Given the description of an element on the screen output the (x, y) to click on. 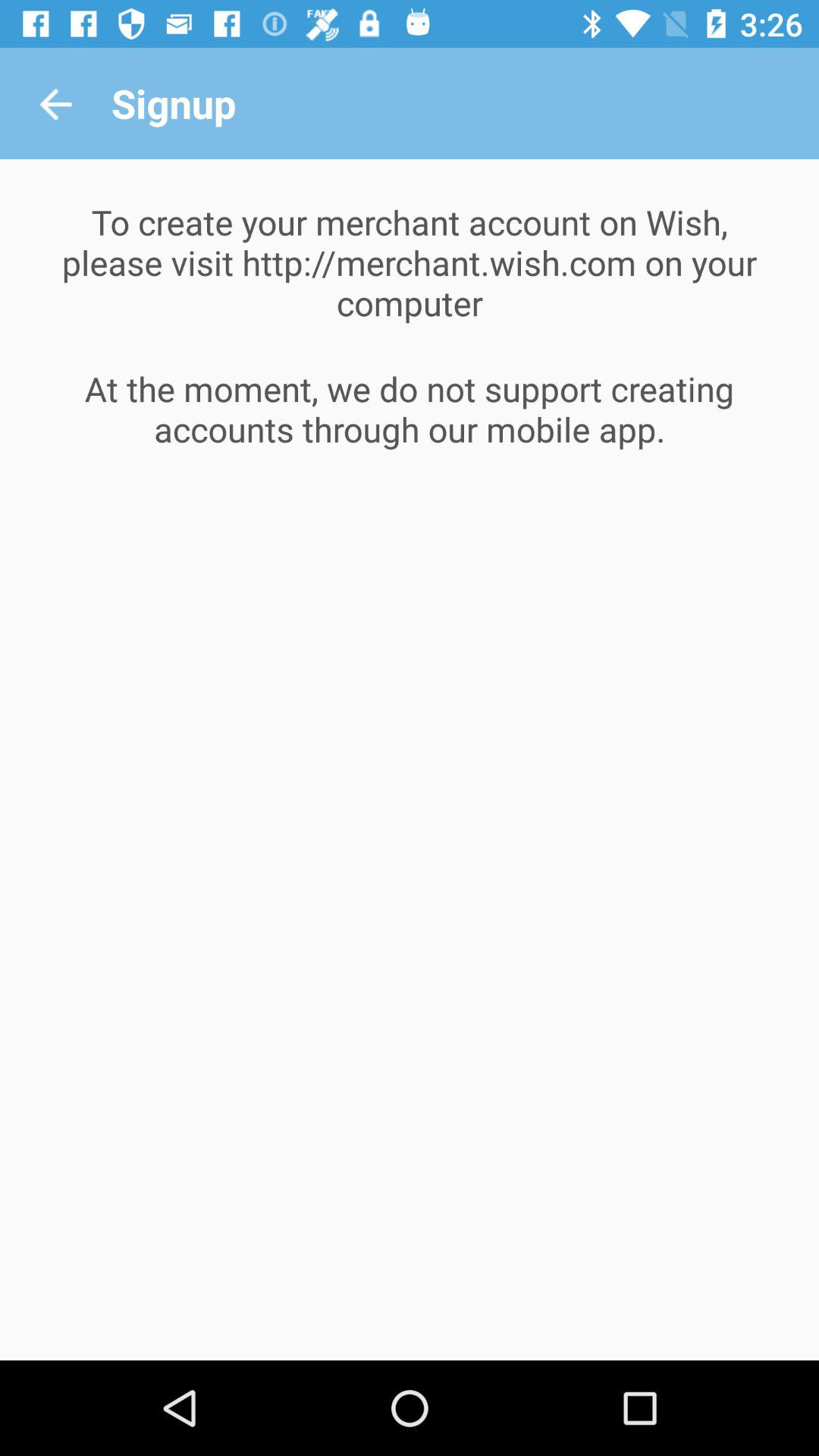
choose icon to the left of the signup icon (55, 103)
